Given the description of an element on the screen output the (x, y) to click on. 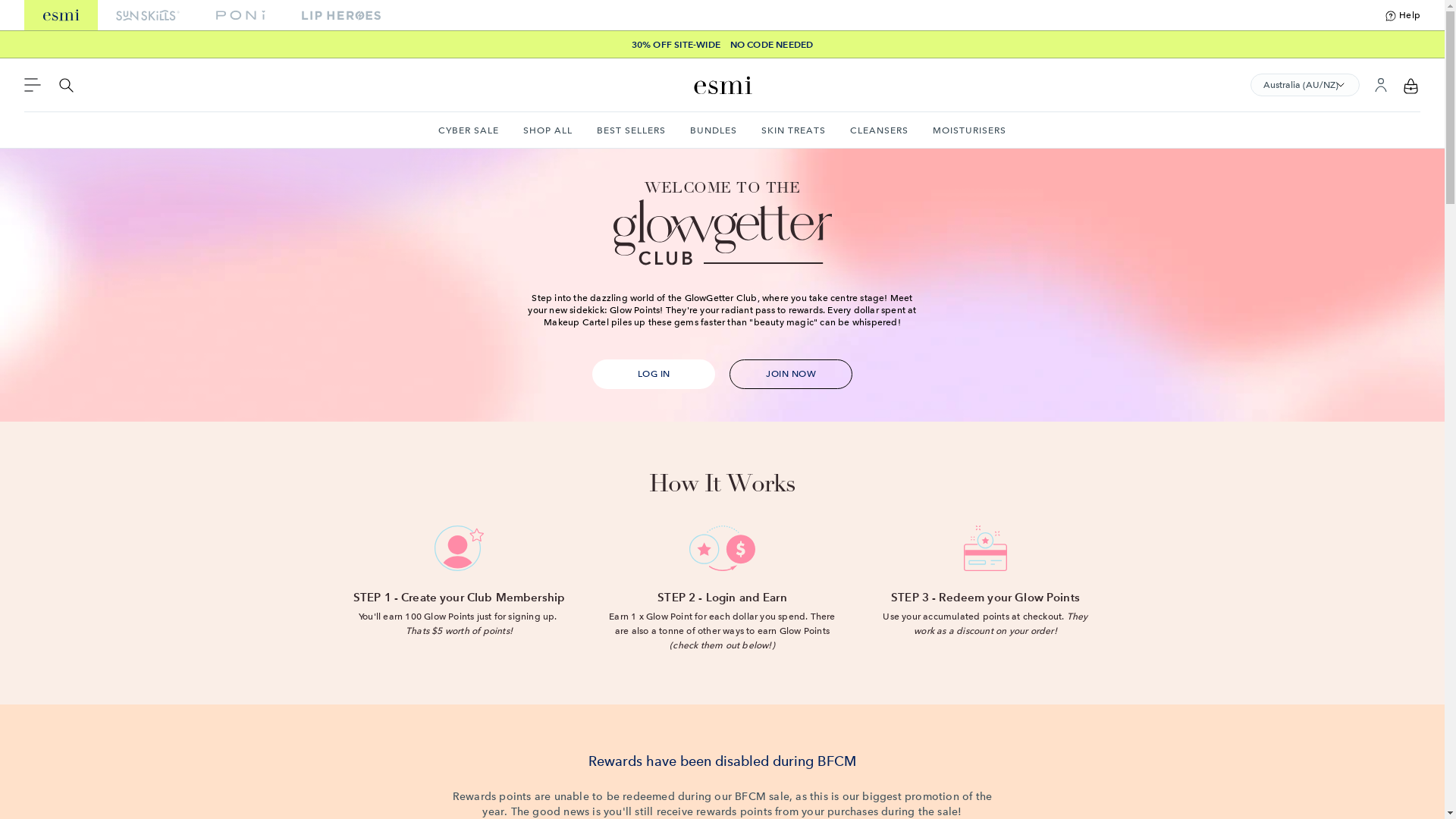
CLEANSERS Element type: text (879, 129)
SHOP ALL Element type: text (547, 129)
Cart
items Element type: text (1411, 84)
SKIN TREATS Element type: text (793, 129)
Search Element type: text (66, 84)
BUNDLES Element type: text (713, 129)
MOISTURISERS Element type: text (969, 129)
BEST SELLERS Element type: text (630, 129)
CYBER SALE Element type: text (468, 129)
LOG IN Element type: text (653, 374)
Help Element type: text (1402, 15)
Esmi Element type: text (721, 84)
JOIN NOW Element type: text (790, 374)
